Given the description of an element on the screen output the (x, y) to click on. 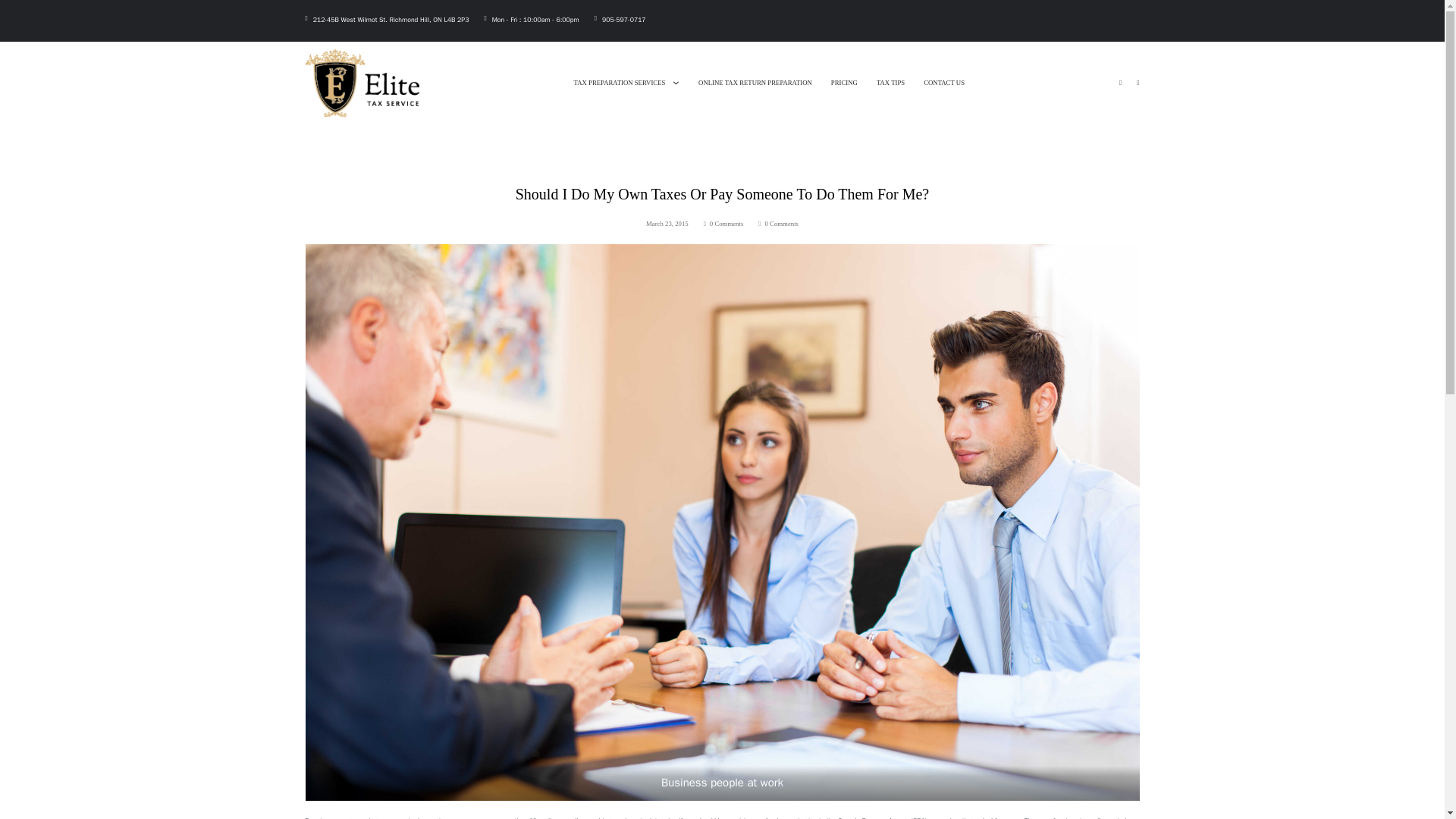
CONTACT US (943, 82)
905-597-0717 (624, 20)
ONLINE TAX RETURN PREPARATION (755, 82)
TAX TIPS (890, 82)
TAX PREPARATION SERVICES (619, 82)
PRICING (844, 82)
